Given the description of an element on the screen output the (x, y) to click on. 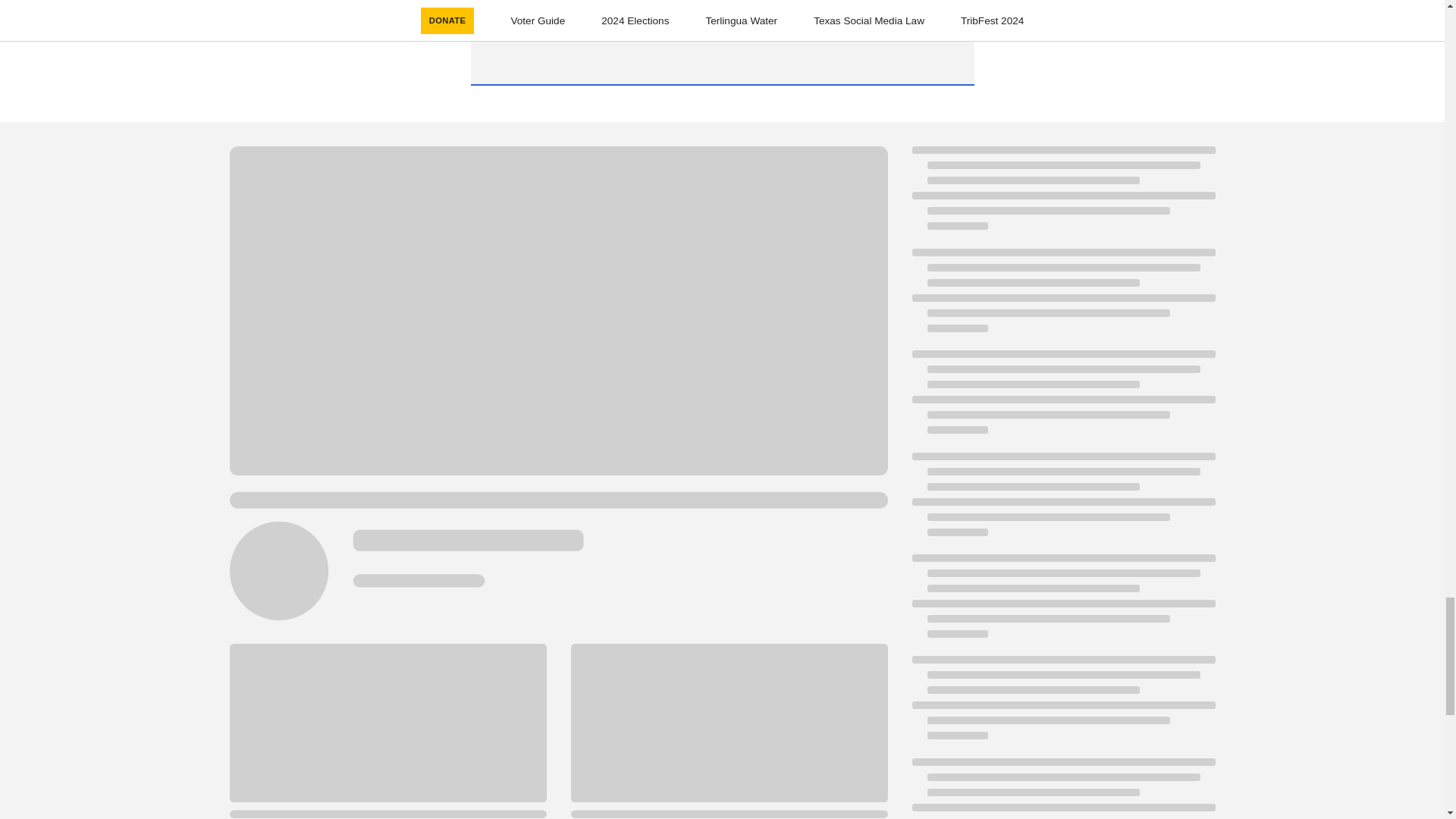
Loading indicator (1062, 788)
Loading indicator (1062, 399)
Loading indicator (1062, 297)
Loading indicator (1062, 603)
Loading indicator (1062, 195)
Loading indicator (1062, 705)
Loading indicator (1062, 501)
